Given the description of an element on the screen output the (x, y) to click on. 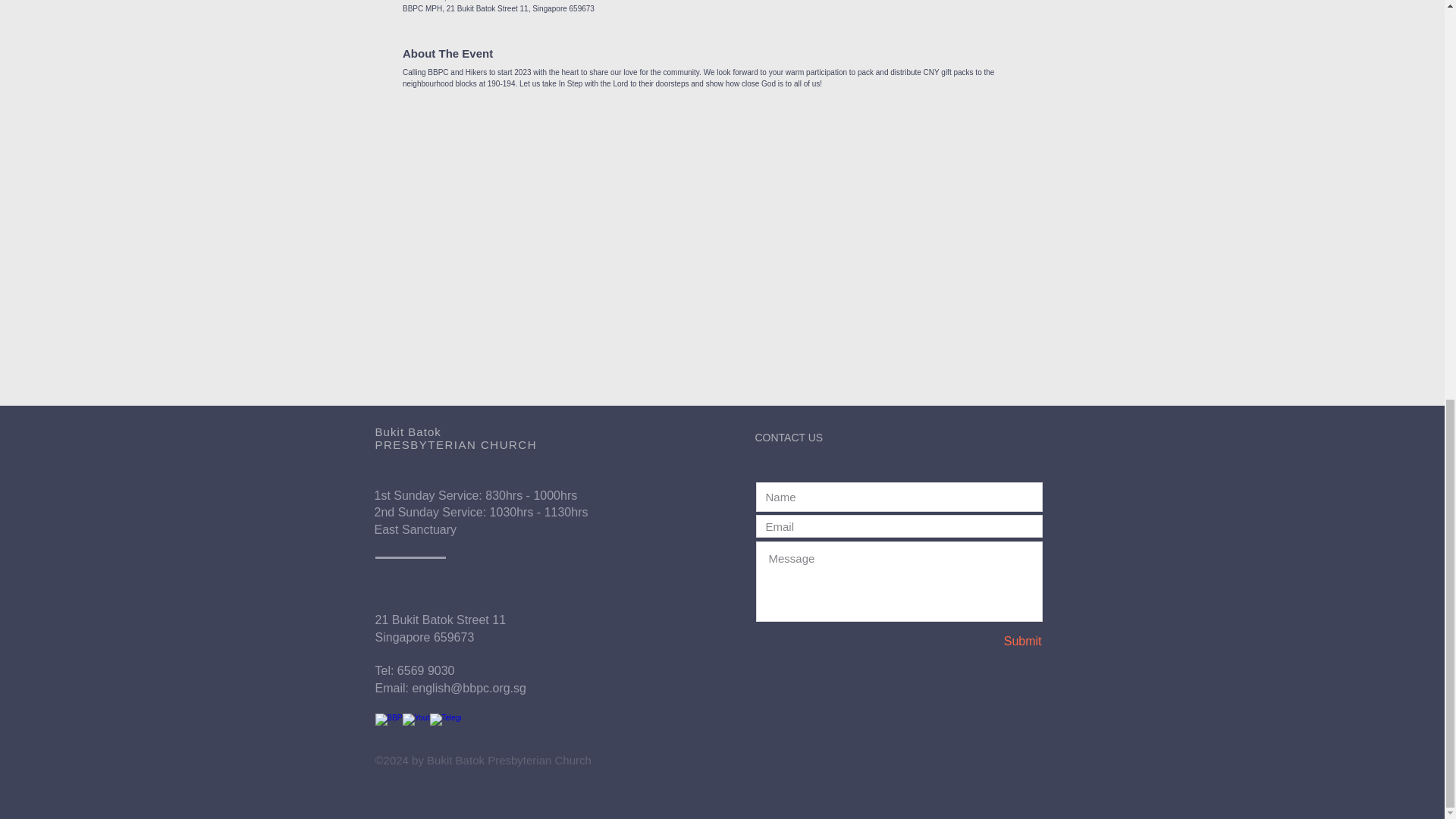
Submit (989, 641)
